Given the description of an element on the screen output the (x, y) to click on. 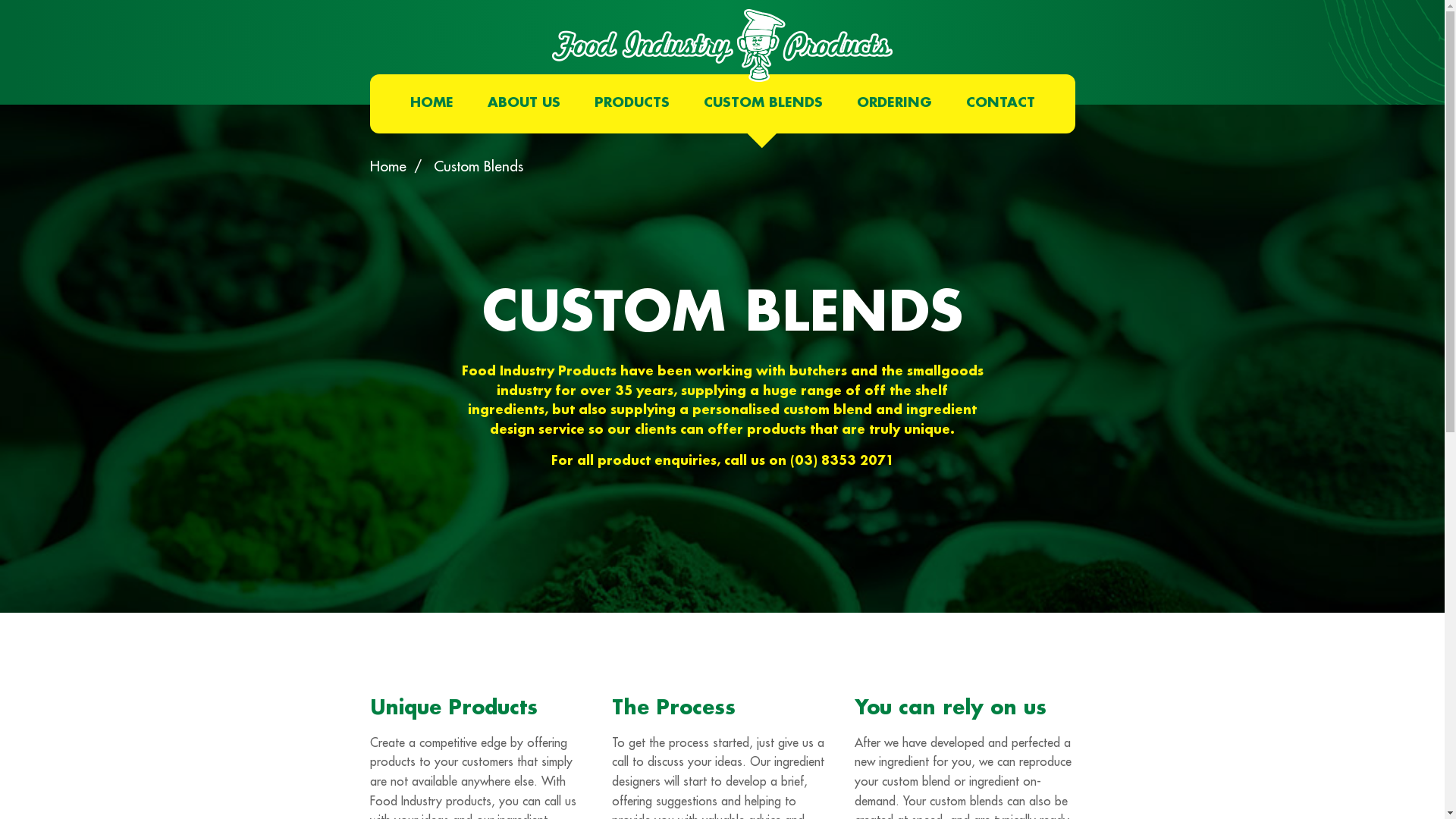
HOME Element type: text (430, 103)
PRODUCTS Element type: text (631, 103)
CUSTOM BLENDS Element type: text (762, 103)
Home Element type: text (388, 166)
CONTACT Element type: text (1000, 103)
ABOUT US Element type: text (522, 103)
ORDERING Element type: text (894, 103)
